Given the description of an element on the screen output the (x, y) to click on. 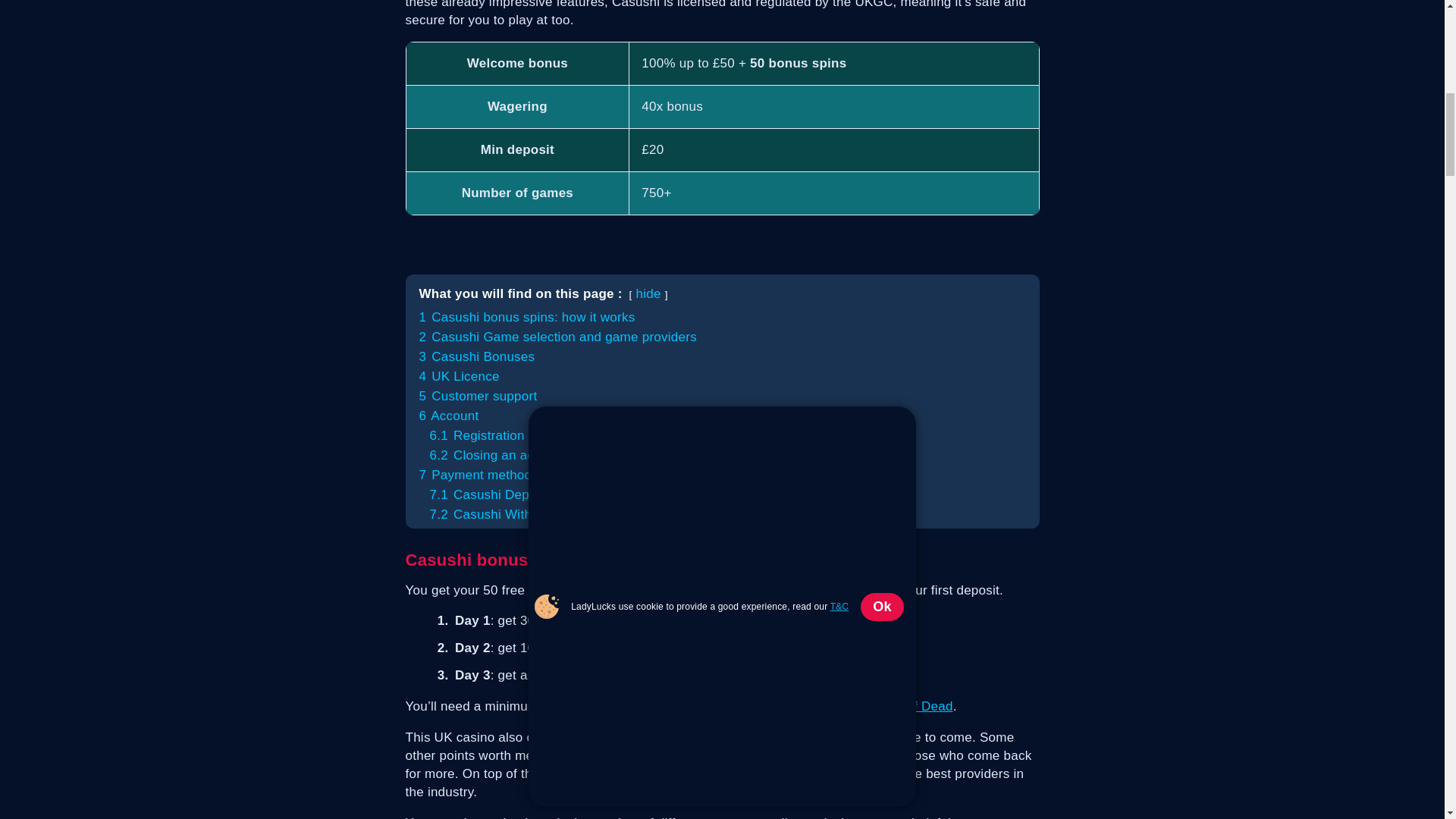
3 Casushi Bonuses (476, 356)
1 Casushi bonus spins: how it works (526, 317)
4 UK Licence (459, 376)
6.2 Closing an account (497, 454)
hide (648, 293)
7.1 Casushi Deposits (492, 494)
7.2 Casushi Withdrawals (502, 513)
on Book of Dead (902, 706)
5 Customer support (478, 396)
7 Payment methods (478, 474)
2 Casushi Game selection and game providers (557, 336)
6.1 Registration and verification (523, 435)
6 Account (449, 415)
